Given the description of an element on the screen output the (x, y) to click on. 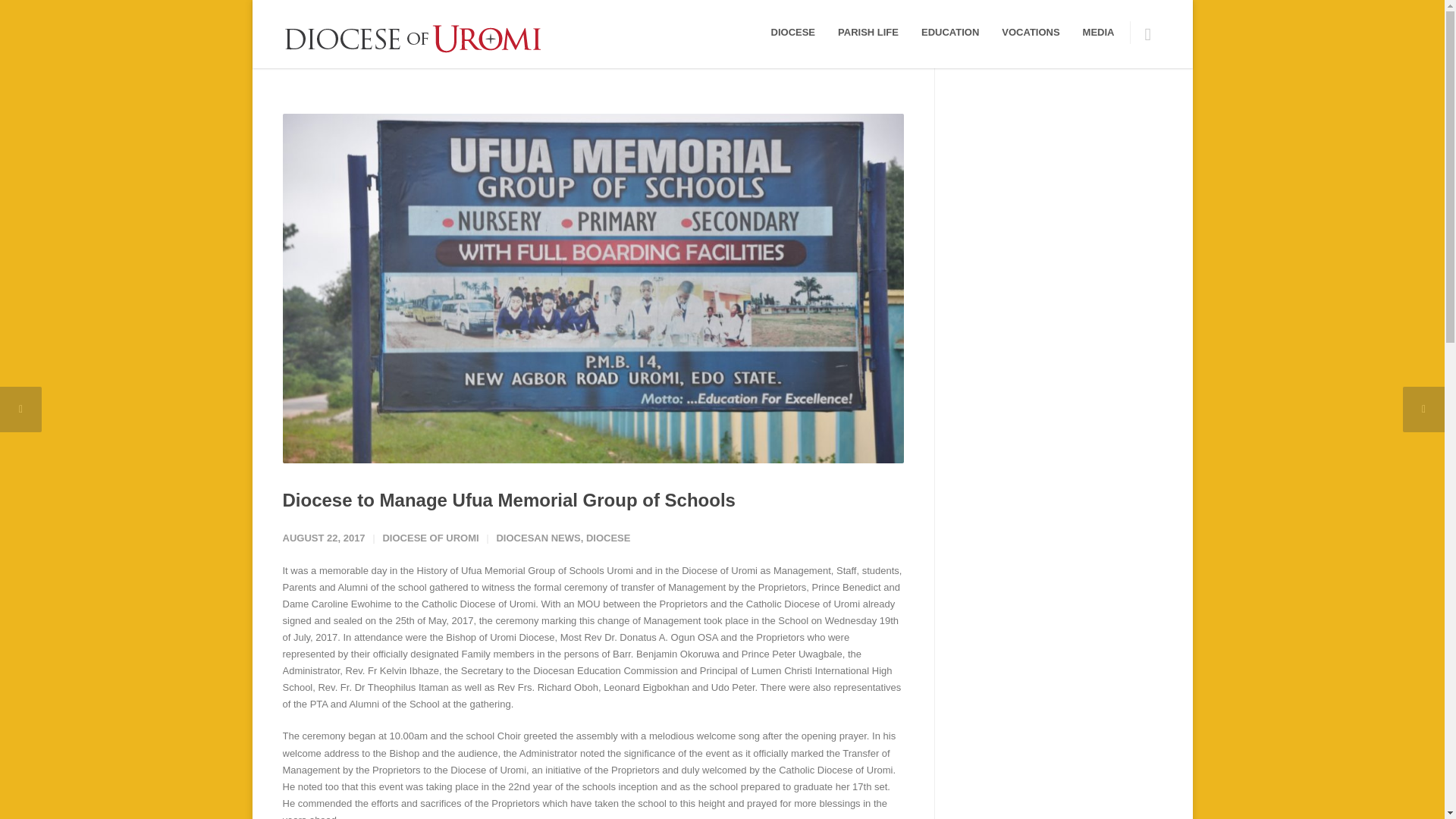
MEDIA (1098, 32)
DIOCESE (793, 32)
EDUCATION (950, 32)
VOCATIONS (1030, 32)
PARISH LIFE (868, 32)
